Given the description of an element on the screen output the (x, y) to click on. 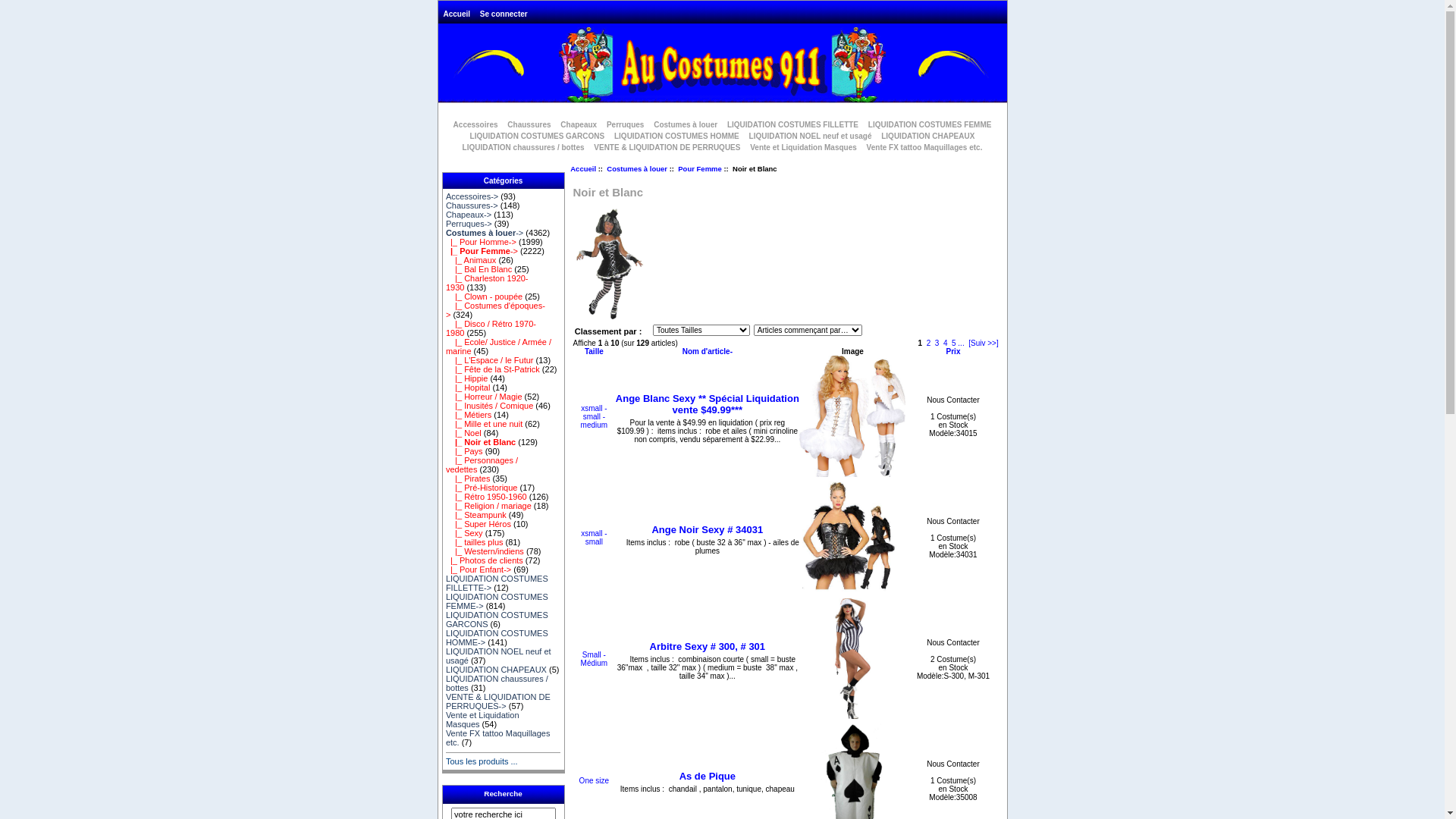
5 Element type: text (953, 342)
As de Pique Element type: text (707, 775)
LIQUIDATION COSTUMES GARCONS Element type: text (496, 619)
Se connecter Element type: text (503, 13)
LIQUIDATION CHAPEAUX Element type: text (495, 669)
    |_ Hopital Element type: text (467, 387)
    |_ Bal En Blanc Element type: text (478, 268)
    |_ Mille et une nuit Element type: text (483, 423)
Chaussures Element type: text (528, 124)
Nom d'article- Element type: text (707, 351)
LIQUIDATION COSTUMES HOMME Element type: text (676, 135)
One size Element type: text (593, 780)
 Arbitre Sexy # 300, # 301  Element type: hover (852, 658)
Chaussures-> Element type: text (471, 205)
    |_ Charleston 1920-1930 Element type: text (486, 282)
2 Element type: text (928, 342)
Vente FX tattoo Maquillages etc. Element type: text (497, 737)
    |_ Horreur / Magie Element type: text (483, 396)
LIQUIDATION COSTUMES FILLETTE Element type: text (792, 124)
    |_ tailles plus Element type: text (474, 541)
  |_ Pour Homme-> Element type: text (480, 241)
Perruques-> Element type: text (468, 223)
    |_ Religion / mariage Element type: text (488, 505)
3 Element type: text (937, 342)
[Suiv >>] Element type: text (982, 342)
    |_ Noir et Blanc Element type: text (480, 441)
 Ange Noir Sexy # 34031  Element type: hover (852, 537)
    |_ Western/indiens Element type: text (484, 550)
Chapeaux-> Element type: text (468, 214)
Vente et Liquidation Masques Element type: text (803, 147)
Prix Element type: text (953, 351)
Taille Element type: text (593, 351)
    |_ Steampunk Element type: text (475, 514)
LIQUIDATION COSTUMES GARCONS Element type: text (537, 135)
LIQUIDATION chaussures / bottes Element type: text (496, 683)
    |_ Pirates Element type: text (467, 478)
    |_ Noel Element type: text (463, 432)
VENTE & LIQUIDATION DE PERRUQUES Element type: text (666, 147)
... Element type: text (960, 342)
    |_ L'Espace / le Futur Element type: text (489, 359)
    |_ Pays Element type: text (464, 450)
    |_ Personnages / vedettes Element type: text (481, 464)
  |_ Pour Enfant-> Element type: text (478, 569)
Chapeaux Element type: text (578, 124)
LIQUIDATION CHAPEAUX Element type: text (927, 135)
Pour Femme Element type: text (699, 168)
LIQUIDATION COSTUMES FILLETTE-> Element type: text (496, 583)
Accueil Element type: text (583, 168)
LIQUIDATION COSTUMES HOMME-> Element type: text (496, 637)
Vente et Liquidation Masques Element type: text (482, 719)
VENTE & LIQUIDATION DE PERRUQUES-> Element type: text (497, 701)
    |_ Animaux Element type: text (470, 259)
Accessoires-> Element type: text (471, 195)
Accessoires Element type: text (475, 124)
4 Element type: text (945, 342)
xsmall - small - medium Element type: text (594, 416)
Accueil Element type: text (456, 13)
Ange Noir Sexy # 34031 Element type: text (706, 529)
    |_ Sexy Element type: text (464, 532)
Arbitre Sexy # 300, # 301 Element type: text (707, 646)
LIQUIDATION COSTUMES FEMME Element type: text (929, 124)
LIQUIDATION chaussures / bottes Element type: text (523, 147)
xsmall - small Element type: text (593, 537)
Vente FX tattoo Maquillages etc. Element type: text (924, 147)
 Powered by WEBO HOSTING http://www.WEBOHOSTING.ca  Element type: hover (722, 65)
  |_ Pour Femme-> Element type: text (481, 250)
Tous les produits ... Element type: text (481, 760)
    |_ Hippie Element type: text (466, 377)
  |_ Photos de clients Element type: text (484, 559)
LIQUIDATION COSTUMES FEMME-> Element type: text (496, 601)
Perruques Element type: text (624, 124)
